Given the description of an element on the screen output the (x, y) to click on. 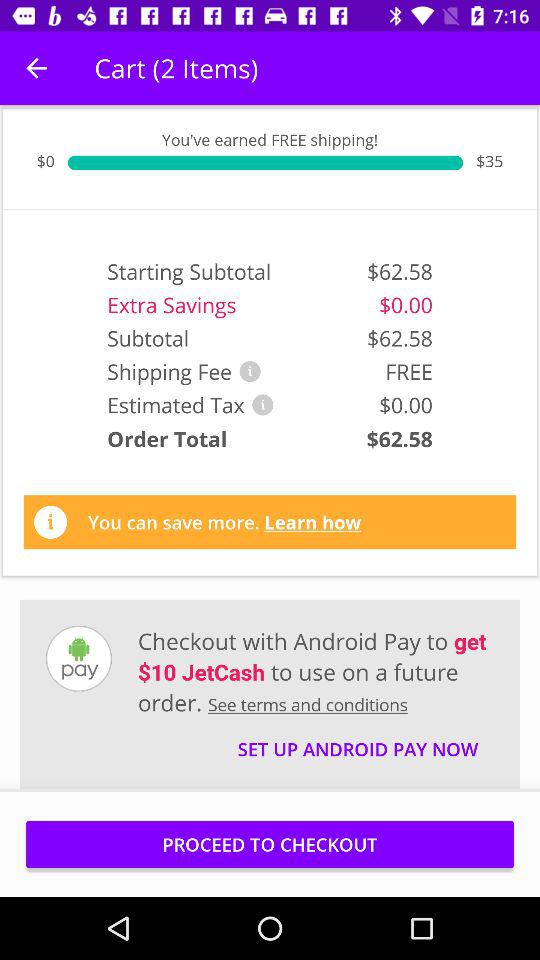
select item to the left of cart (2 items) item (36, 68)
